Given the description of an element on the screen output the (x, y) to click on. 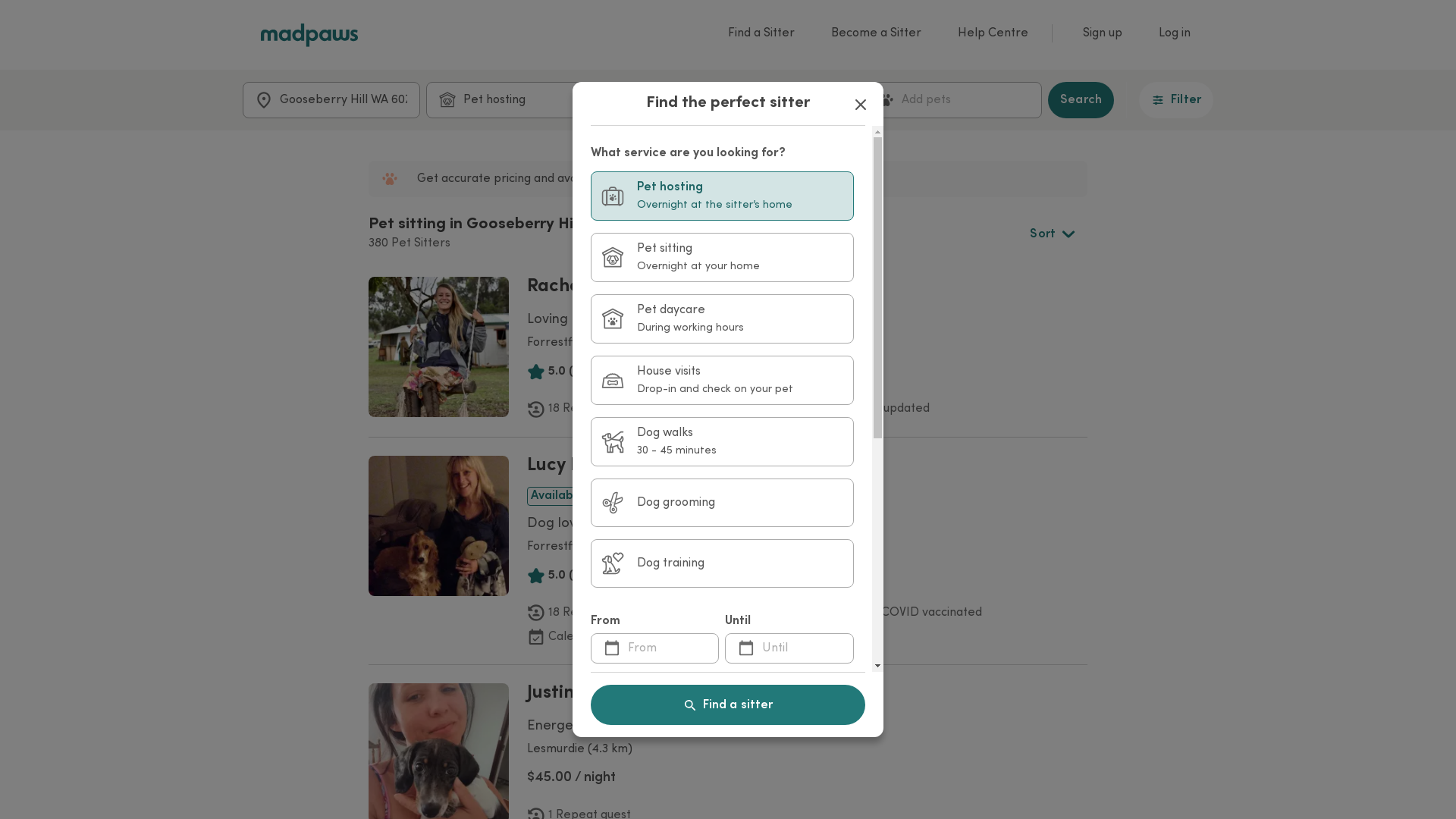
Lucy F. Element type: text (554, 466)
Log in Element type: text (1176, 33)
Justine V. Element type: text (564, 693)
Rachel Robyn G. Element type: text (595, 287)
Sign up Element type: text (1102, 33)
Help Centre Element type: text (992, 33)
Find a sitter Element type: text (728, 704)
Find a Sitter Element type: text (761, 33)
Search Element type: text (1080, 99)
Filter Element type: text (1176, 99)
Sort Element type: text (1052, 233)
Become a Sitter Element type: text (876, 33)
